Given the description of an element on the screen output the (x, y) to click on. 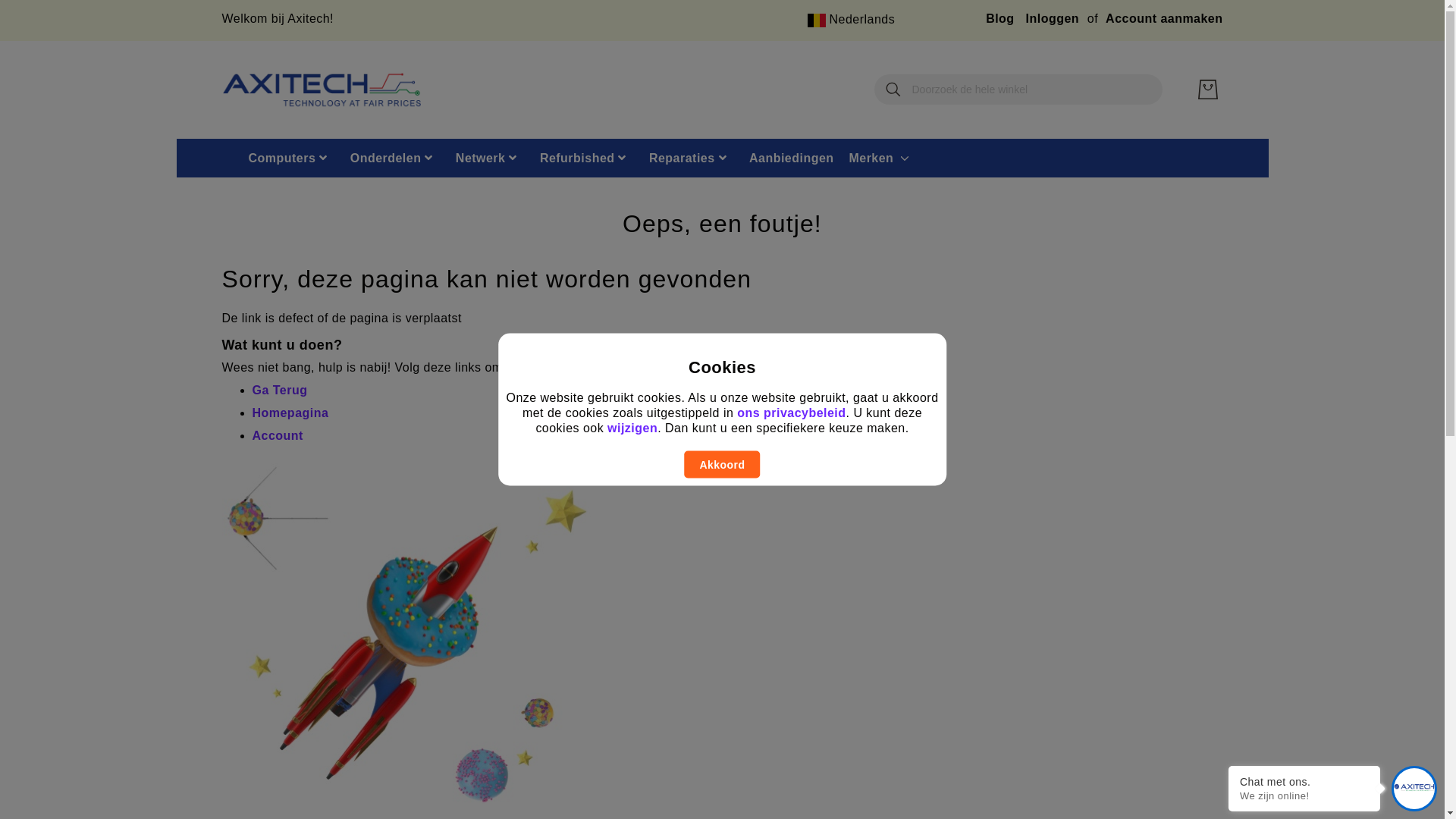
Refurbished Element type: text (582, 157)
Merken Element type: text (870, 158)
Netwerk Element type: text (486, 157)
1 Element type: hover (320, 89)
Aanbiedingen Element type: text (791, 158)
Akkoord Element type: text (721, 463)
Blog Element type: text (999, 18)
ons privacybeleid Element type: text (791, 412)
Inloggen Element type: text (1052, 18)
Account aanmaken Element type: text (1163, 18)
Computers Element type: text (287, 157)
Winkelwagen Element type: hover (1207, 89)
Nederlands Element type: hover (816, 20)
Zoek Element type: hover (893, 89)
Homepagina Element type: text (289, 412)
Account Element type: text (276, 435)
Reparaties Element type: text (687, 157)
Onderdelen Element type: text (391, 157)
Ga Terug Element type: text (279, 389)
wijzigen Element type: text (632, 427)
